Given the description of an element on the screen output the (x, y) to click on. 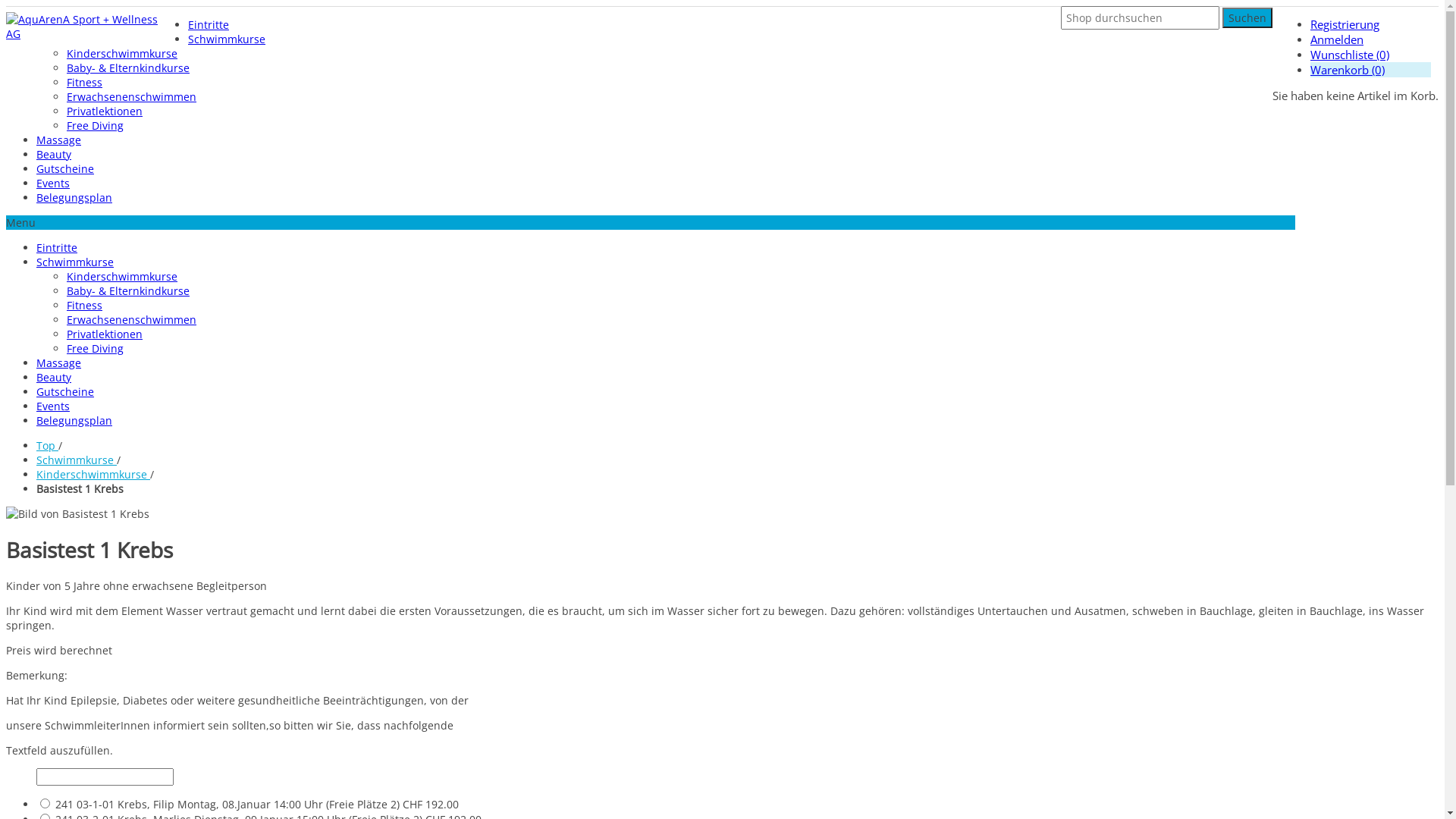
Kinderschwimmkurse Element type: text (93, 474)
Kinderschwimmkurse Element type: text (121, 276)
Wunschliste (0) Element type: text (1349, 54)
Schwimmkurse Element type: text (226, 38)
Massage Element type: text (58, 362)
Fitness Element type: text (84, 305)
Fitness Element type: text (84, 82)
Gutscheine Element type: text (65, 391)
Gutscheine Element type: text (65, 168)
Events Element type: text (52, 405)
Eintritte Element type: text (208, 24)
Free Diving Element type: text (94, 125)
Registrierung Element type: text (1344, 23)
Massage Element type: text (58, 139)
Eintritte Element type: text (56, 247)
Schwimmkurse Element type: text (74, 261)
Erwachsenenschwimmen Element type: text (131, 96)
Beauty Element type: text (53, 377)
Bild von Basistest 1 Krebs Element type: hover (77, 513)
Suchen Element type: text (1247, 17)
Baby- & Elternkindkurse Element type: text (127, 67)
Free Diving Element type: text (94, 348)
Beauty Element type: text (53, 154)
Schwimmkurse Element type: text (76, 459)
Warenkorb (0) Element type: text (1347, 69)
Privatlektionen Element type: text (104, 333)
Erwachsenenschwimmen Element type: text (131, 319)
Kinderschwimmkurse Element type: text (121, 53)
Top Element type: text (47, 445)
Privatlektionen Element type: text (104, 110)
Belegungsplan Element type: text (74, 197)
Belegungsplan Element type: text (74, 420)
Events Element type: text (52, 182)
Anmelden Element type: text (1336, 39)
Baby- & Elternkindkurse Element type: text (127, 290)
